Given the description of an element on the screen output the (x, y) to click on. 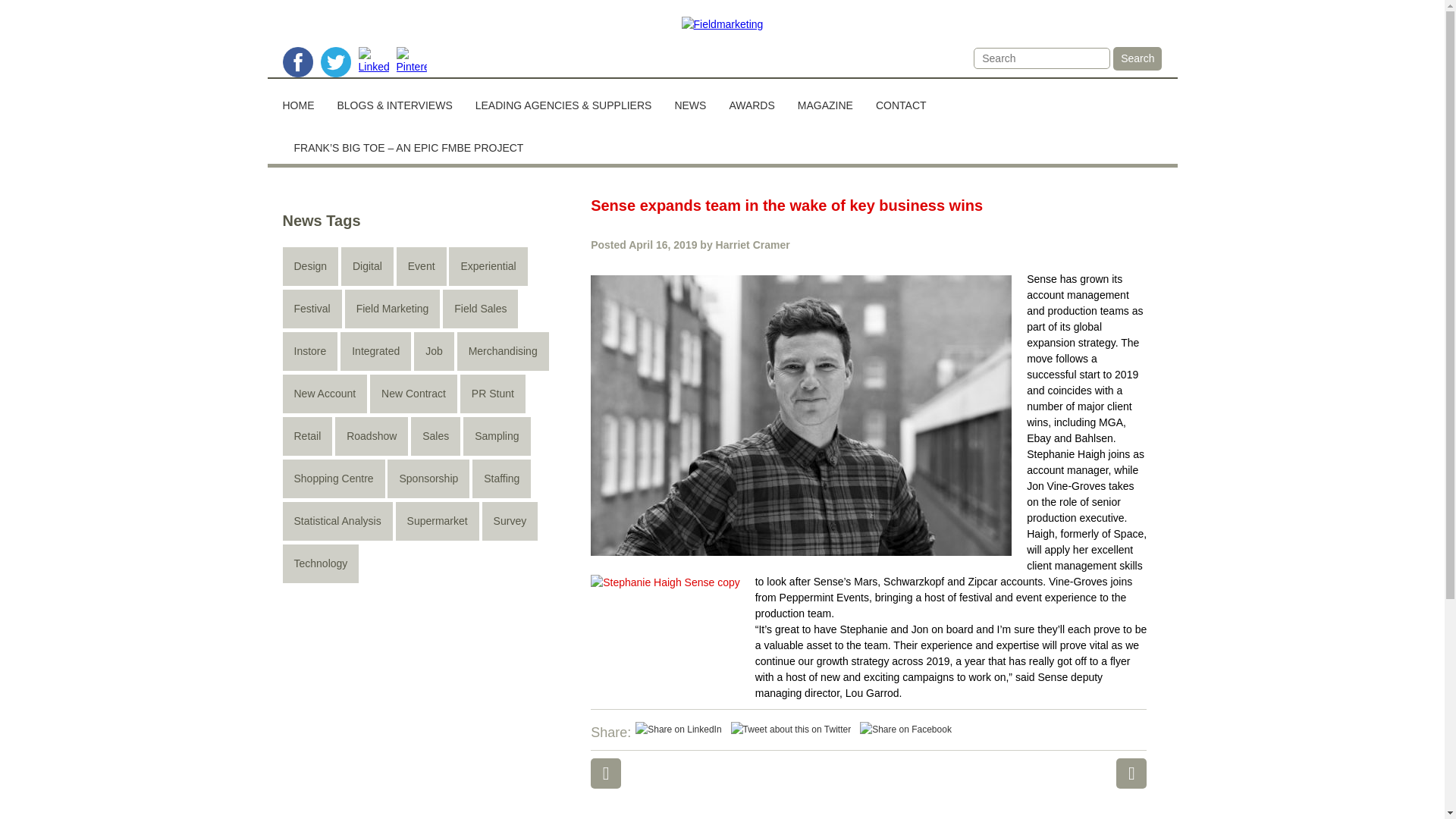
Search (1137, 58)
HOME (303, 99)
Facebook (906, 729)
Twitter (791, 729)
Fieldmarketing (722, 24)
NEWS (689, 99)
MAGAZINE (825, 99)
AWARDS (751, 99)
LinkedIn (677, 729)
